Given the description of an element on the screen output the (x, y) to click on. 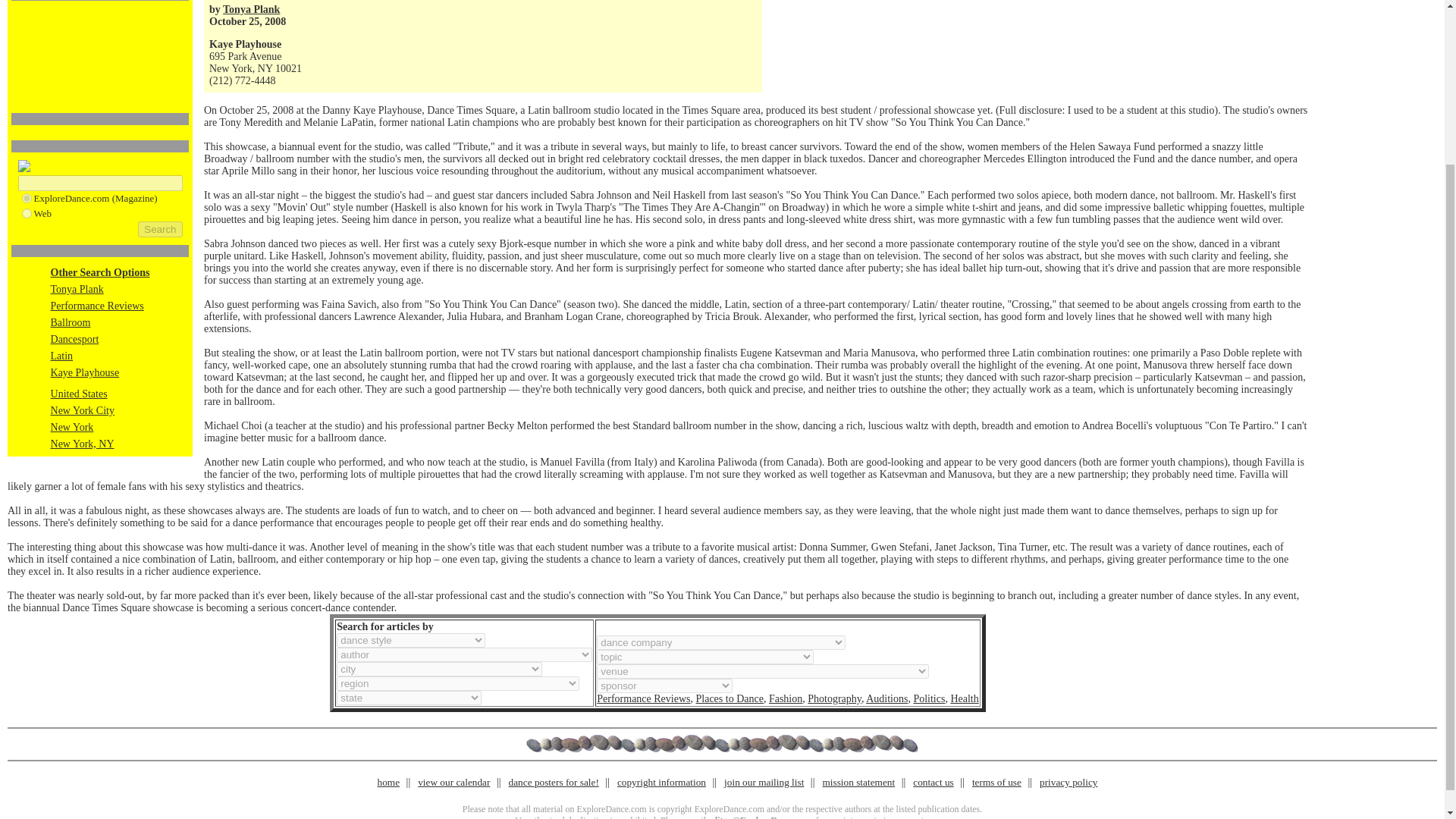
Kaye Playhouse (84, 372)
Performance Reviews (97, 306)
New York (72, 427)
New York City (82, 410)
Search (160, 229)
United States (78, 393)
www.exploredance.com (25, 198)
New York, NY (82, 443)
Search for articles by (384, 626)
Latin (62, 355)
Tonya Plank (76, 288)
Other Search Options (99, 272)
Ballroom (70, 322)
Performance Reviews (643, 698)
Tonya Plank (250, 9)
